Given the description of an element on the screen output the (x, y) to click on. 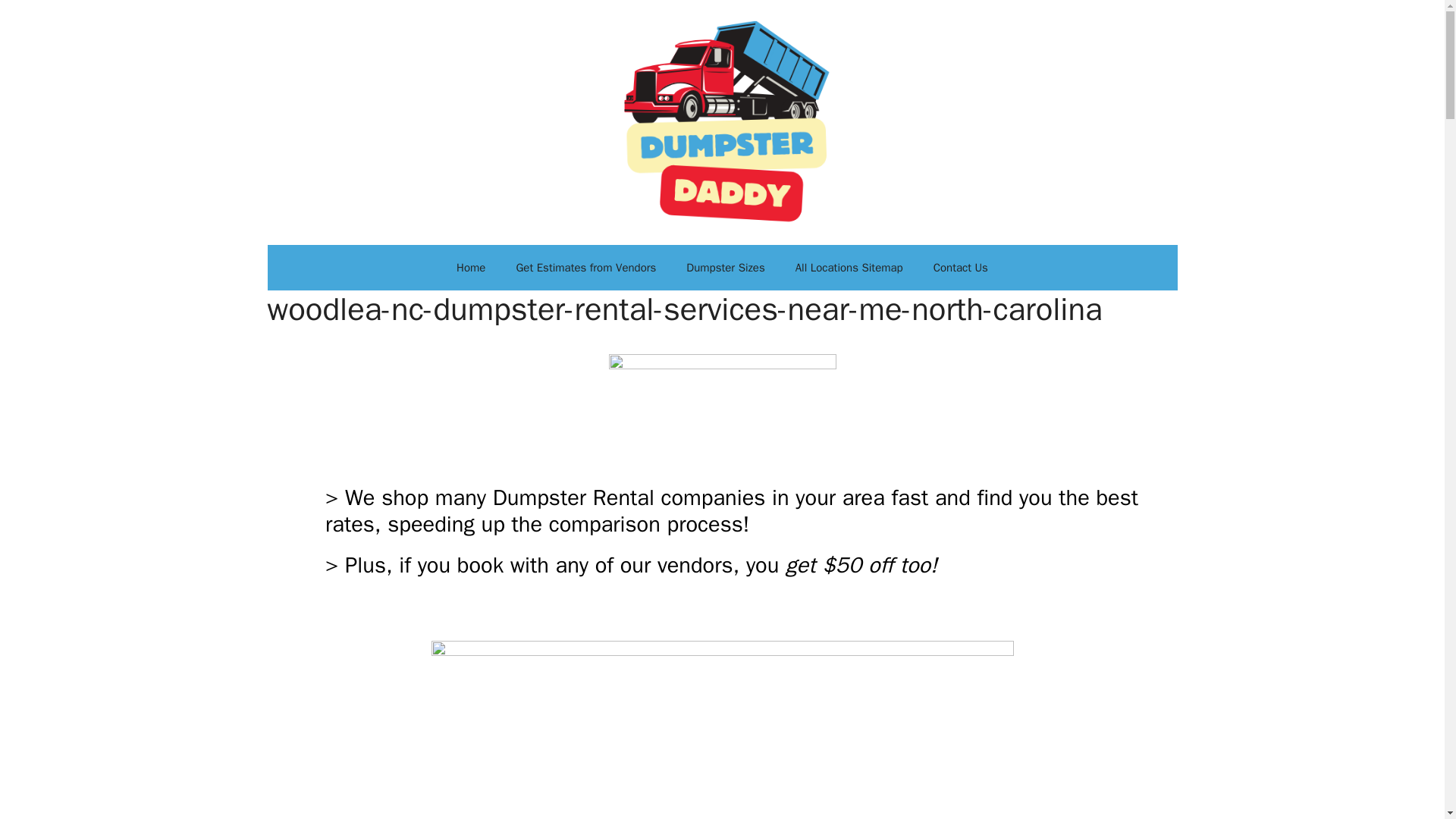
Get Estimates from Vendors (585, 267)
All Locations Sitemap (849, 267)
Dumpster Sizes (724, 267)
Contact Us (960, 267)
Home (470, 267)
